Given the description of an element on the screen output the (x, y) to click on. 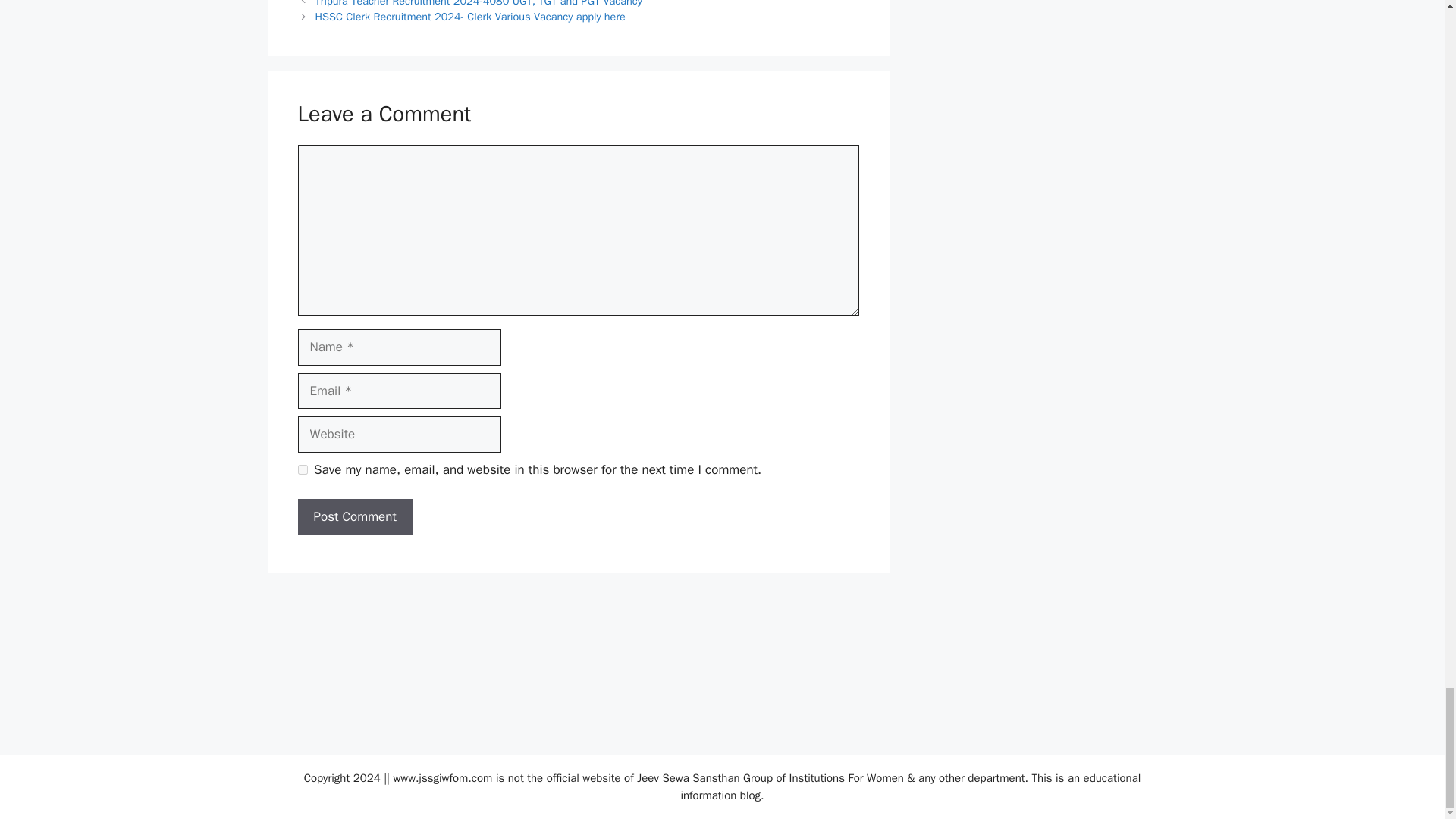
Post Comment (354, 516)
Post Comment (354, 516)
yes (302, 470)
